Given the description of an element on the screen output the (x, y) to click on. 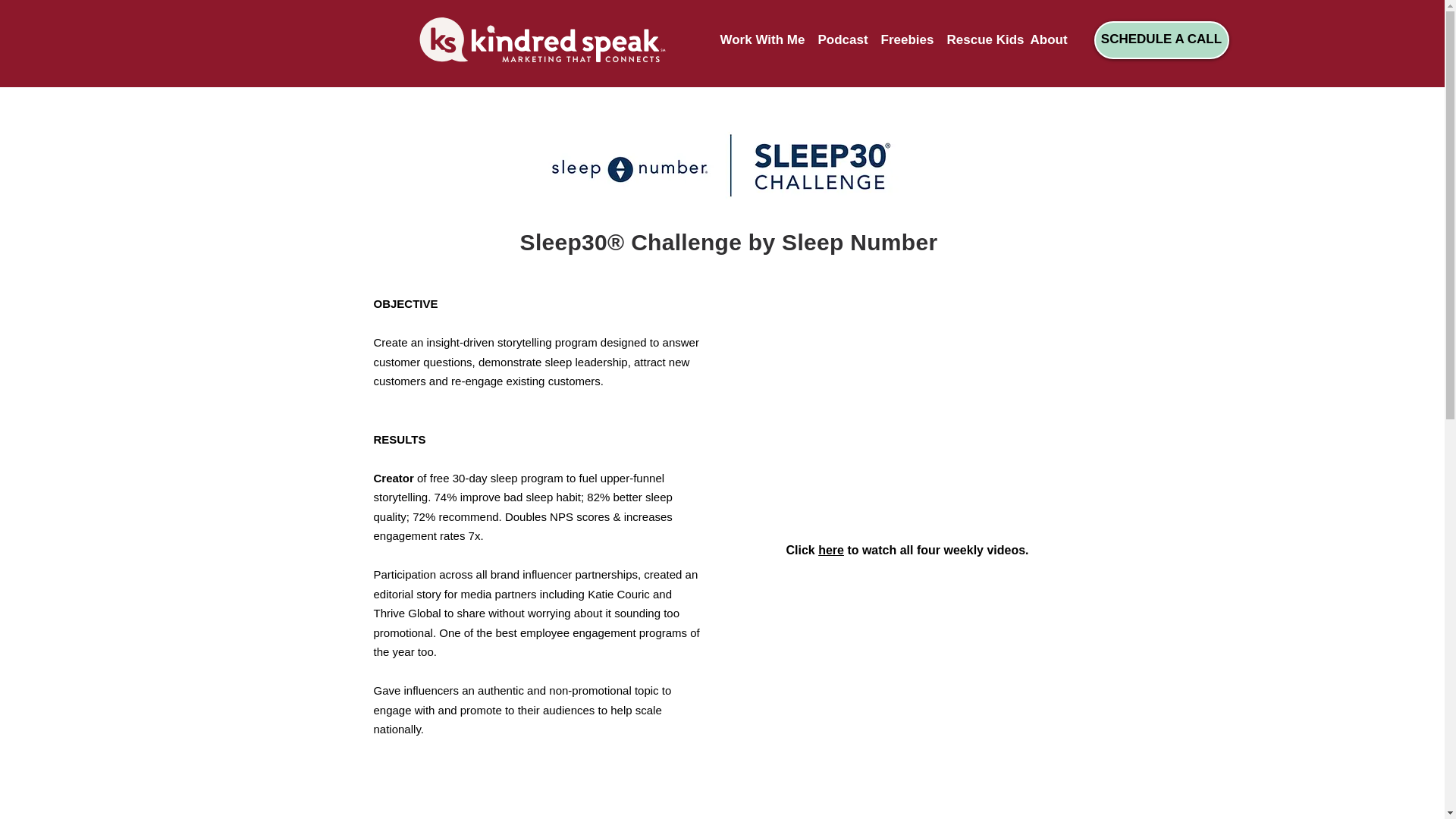
About (1046, 39)
Freebies (901, 39)
SCHEDULE A CALL (1160, 39)
Rescue Kids (977, 39)
Podcast (837, 39)
here (831, 549)
